Given the description of an element on the screen output the (x, y) to click on. 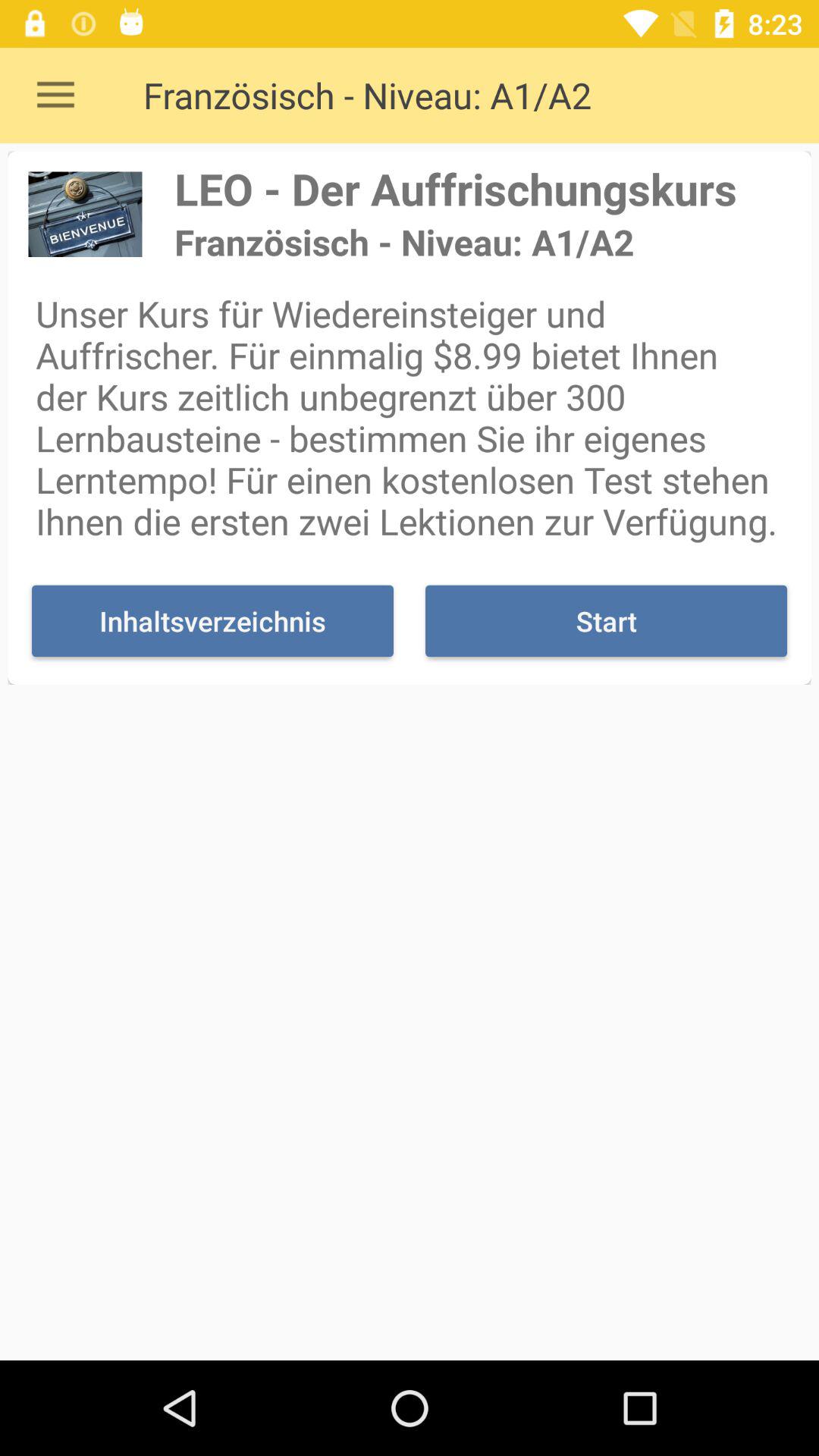
swipe until inhaltsverzeichnis (212, 620)
